Given the description of an element on the screen output the (x, y) to click on. 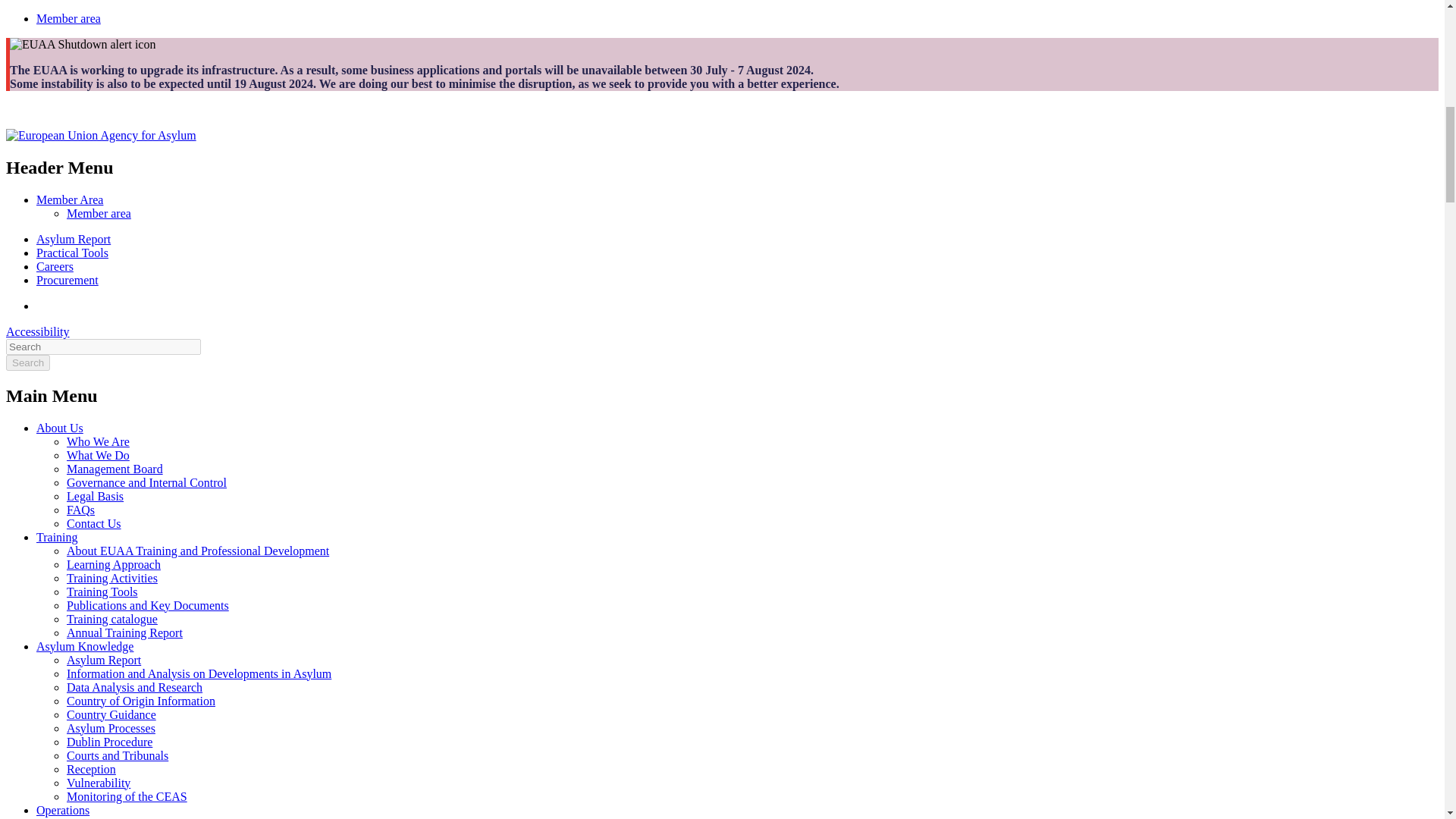
Open Accessibility (37, 331)
Training catalogue (111, 618)
